Given the description of an element on the screen output the (x, y) to click on. 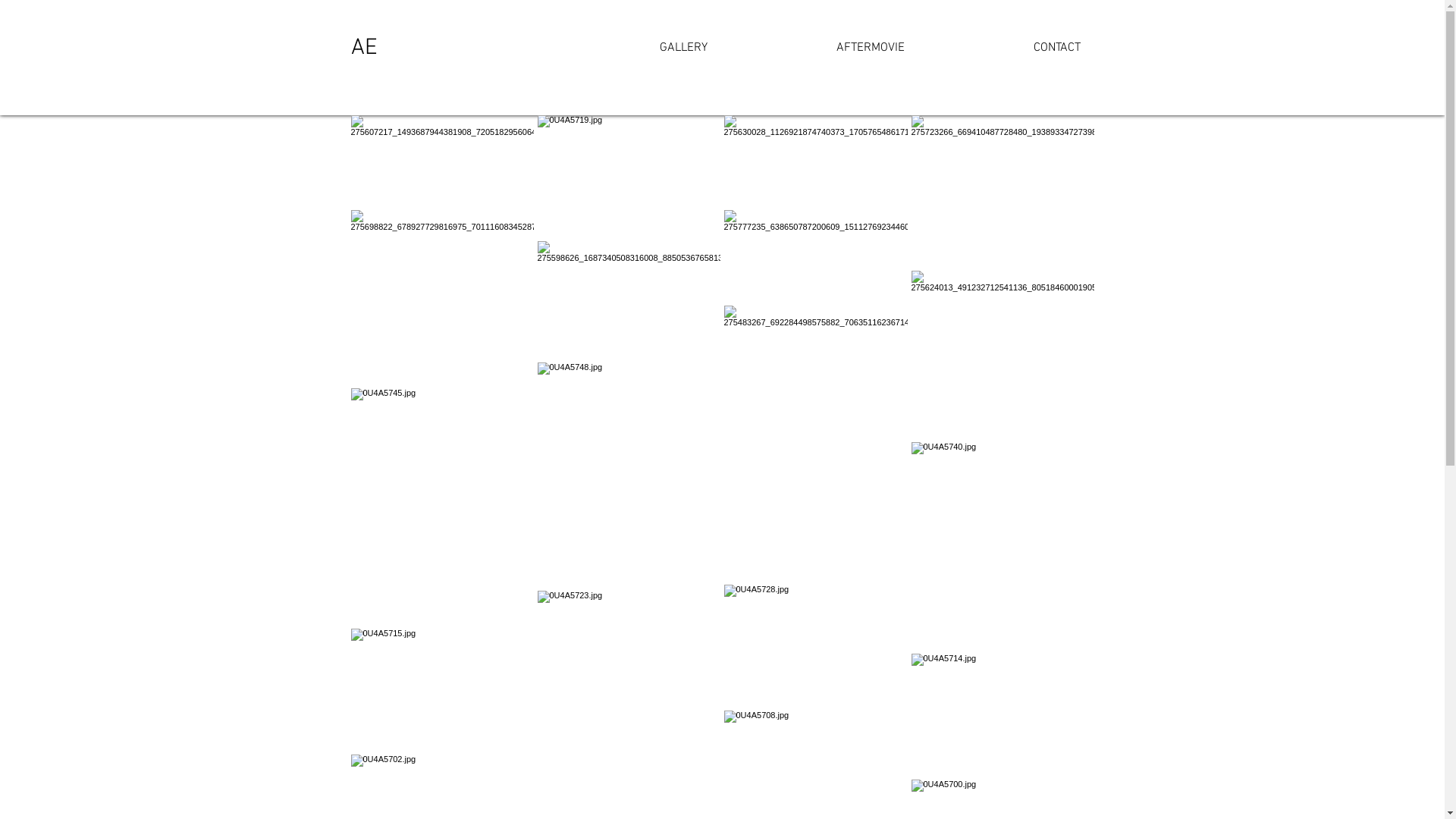
AE Element type: text (363, 48)
GALLERY Element type: text (629, 47)
AFTERMOVIE Element type: text (817, 47)
CONTACT Element type: text (1004, 47)
